Given the description of an element on the screen output the (x, y) to click on. 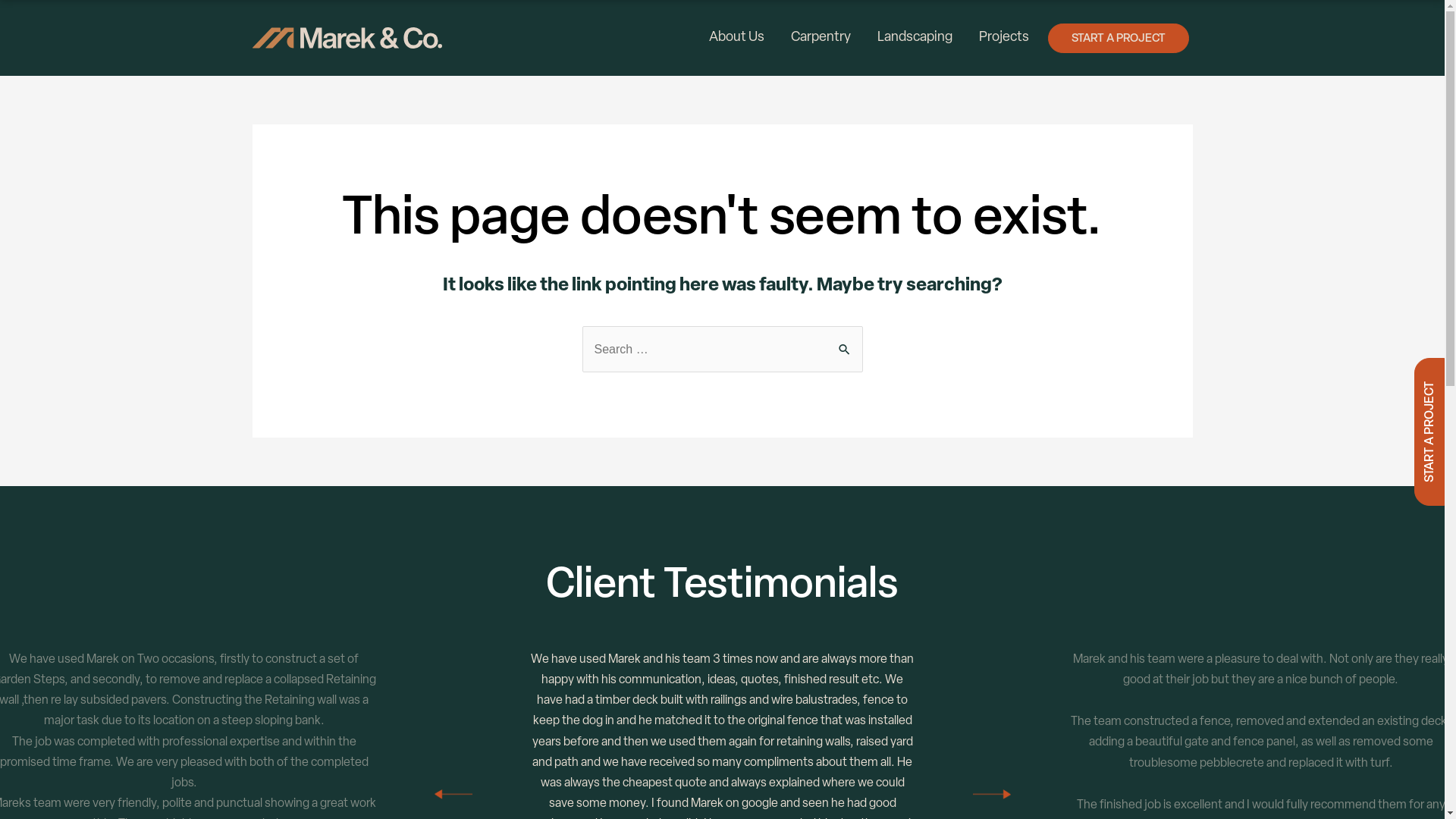
Carpentry Element type: text (820, 37)
Search Element type: text (845, 347)
About Us Element type: text (736, 37)
Landscaping Element type: text (914, 37)
Projects Element type: text (1004, 37)
START A PROJECT Element type: text (1118, 37)
